Given the description of an element on the screen output the (x, y) to click on. 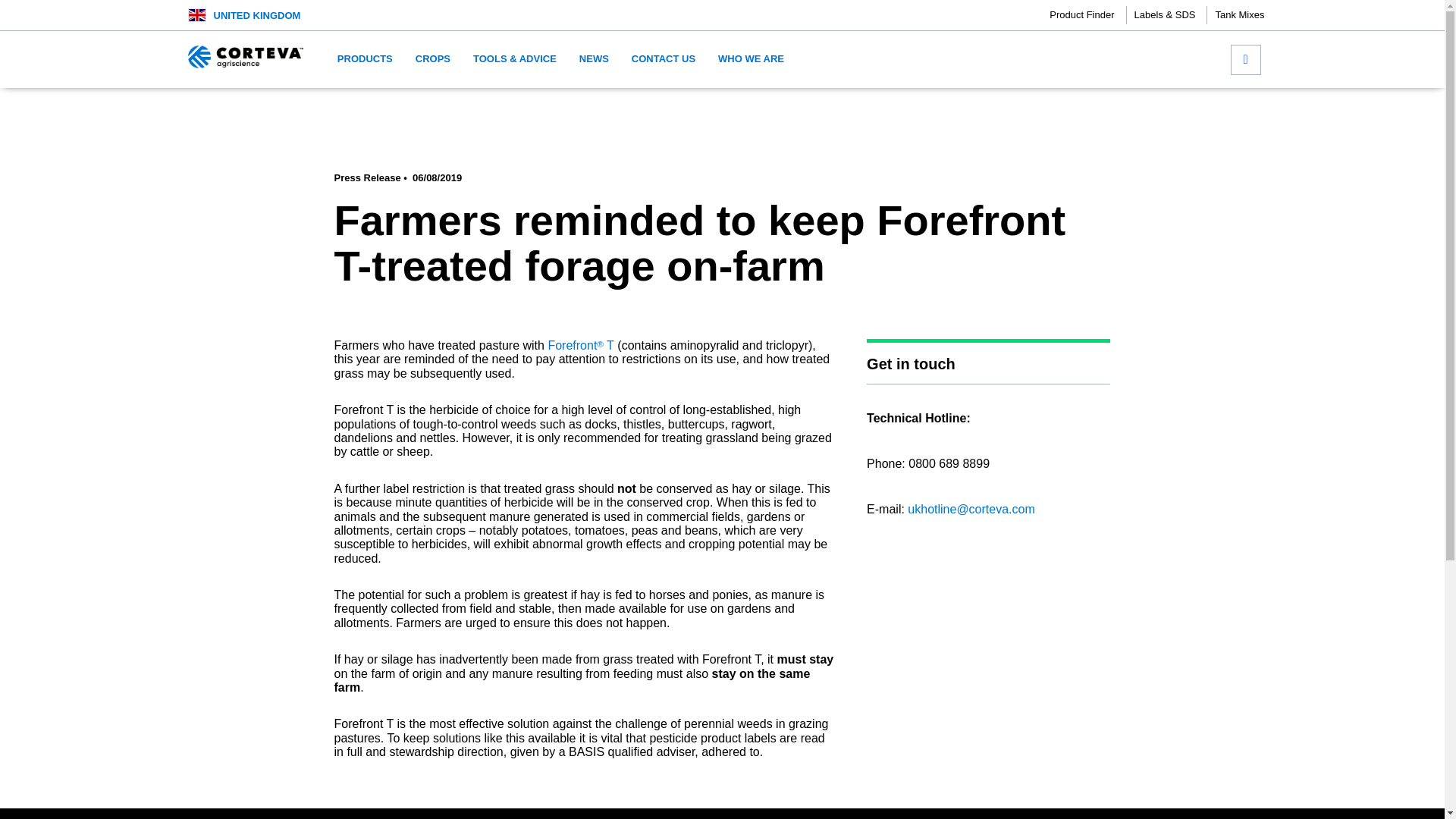
Product Finder (1087, 14)
CROPS (431, 58)
CONTACT US (663, 58)
NEWS (593, 58)
PRODUCTS (365, 58)
Tank Mixes (1238, 14)
UNITED KINGDOM (257, 15)
